Given the description of an element on the screen output the (x, y) to click on. 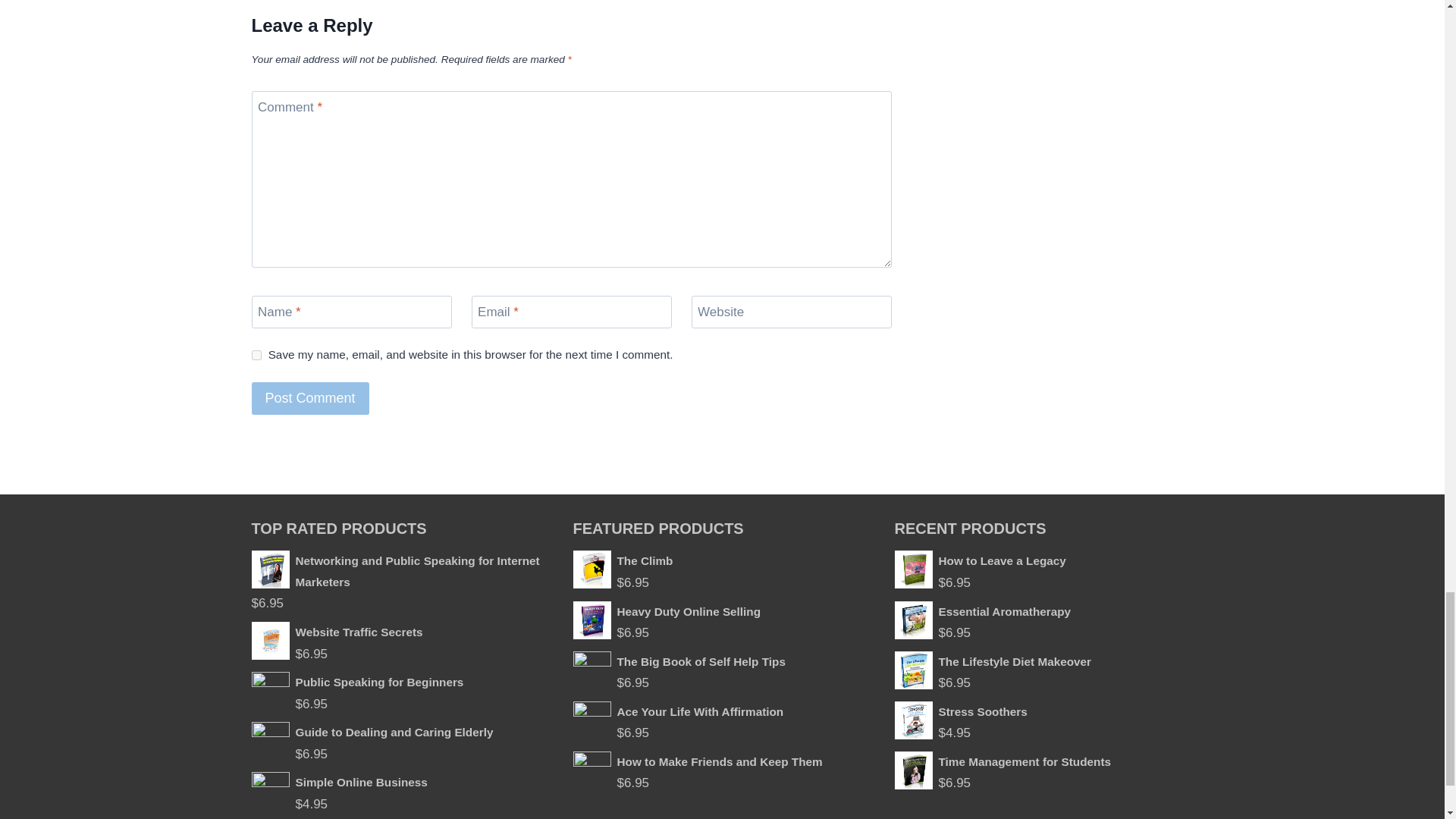
yes (256, 355)
Post Comment (310, 398)
